Given the description of an element on the screen output the (x, y) to click on. 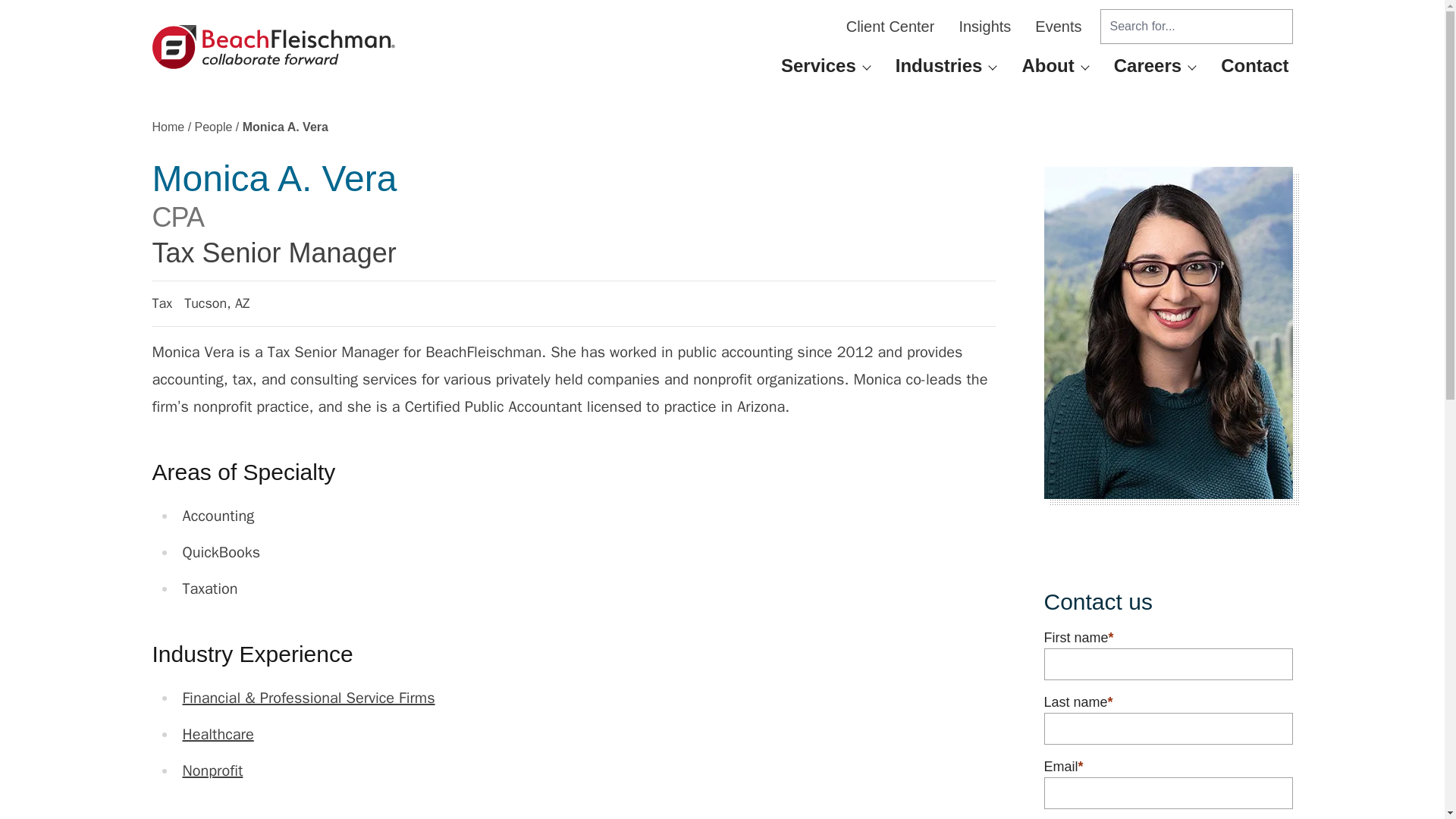
Go to BeachFleischman's front page (272, 46)
About (1047, 65)
Go to BeachFleischman CPAs. (167, 126)
Services (818, 65)
Go to People. (213, 126)
Industries (939, 65)
